Given the description of an element on the screen output the (x, y) to click on. 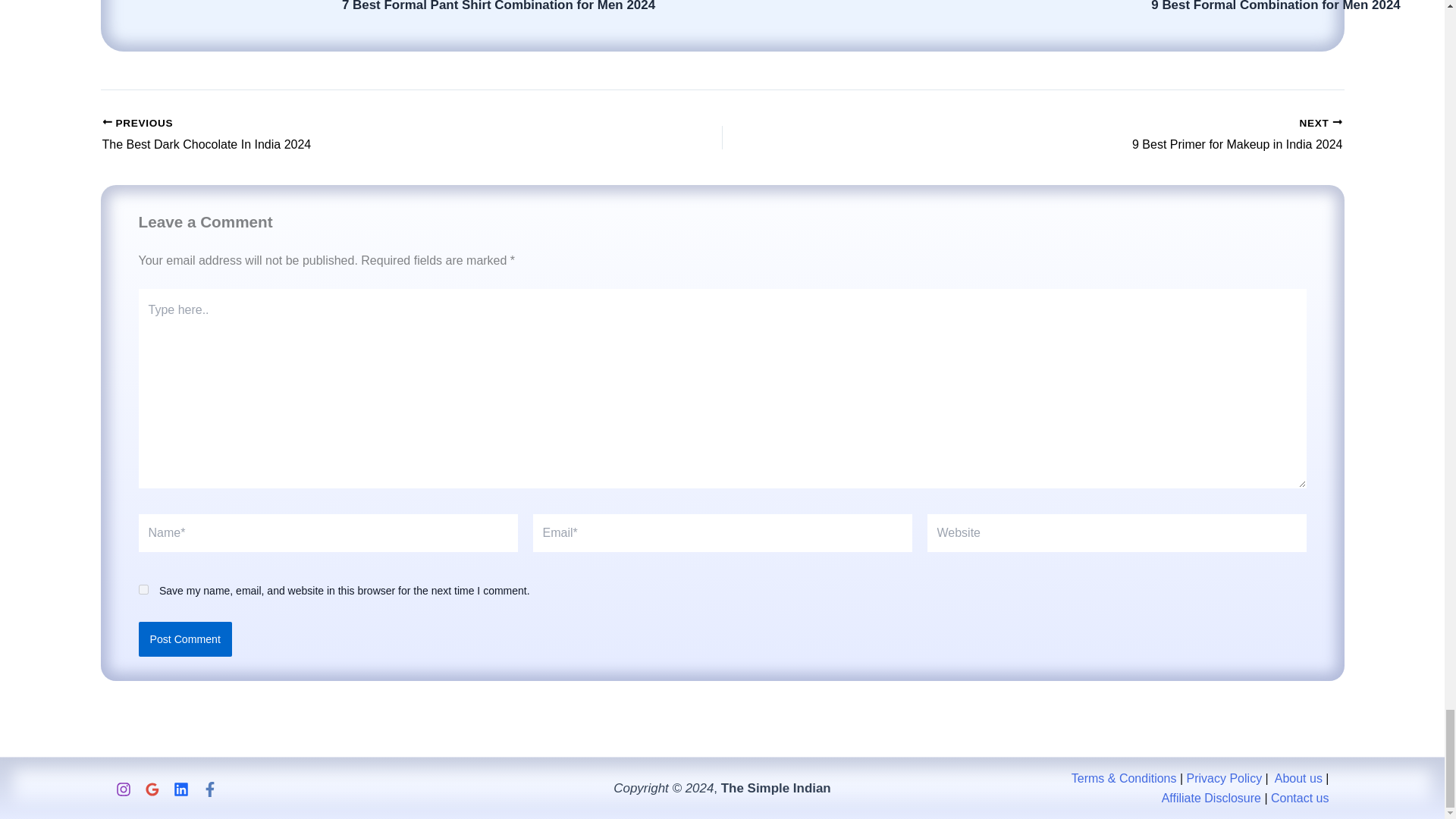
Post Comment (184, 638)
The Best Dark Chocolate In India 2024 (349, 135)
yes (143, 589)
9 Best Primer for Makeup in India 2024 (1093, 135)
